Given the description of an element on the screen output the (x, y) to click on. 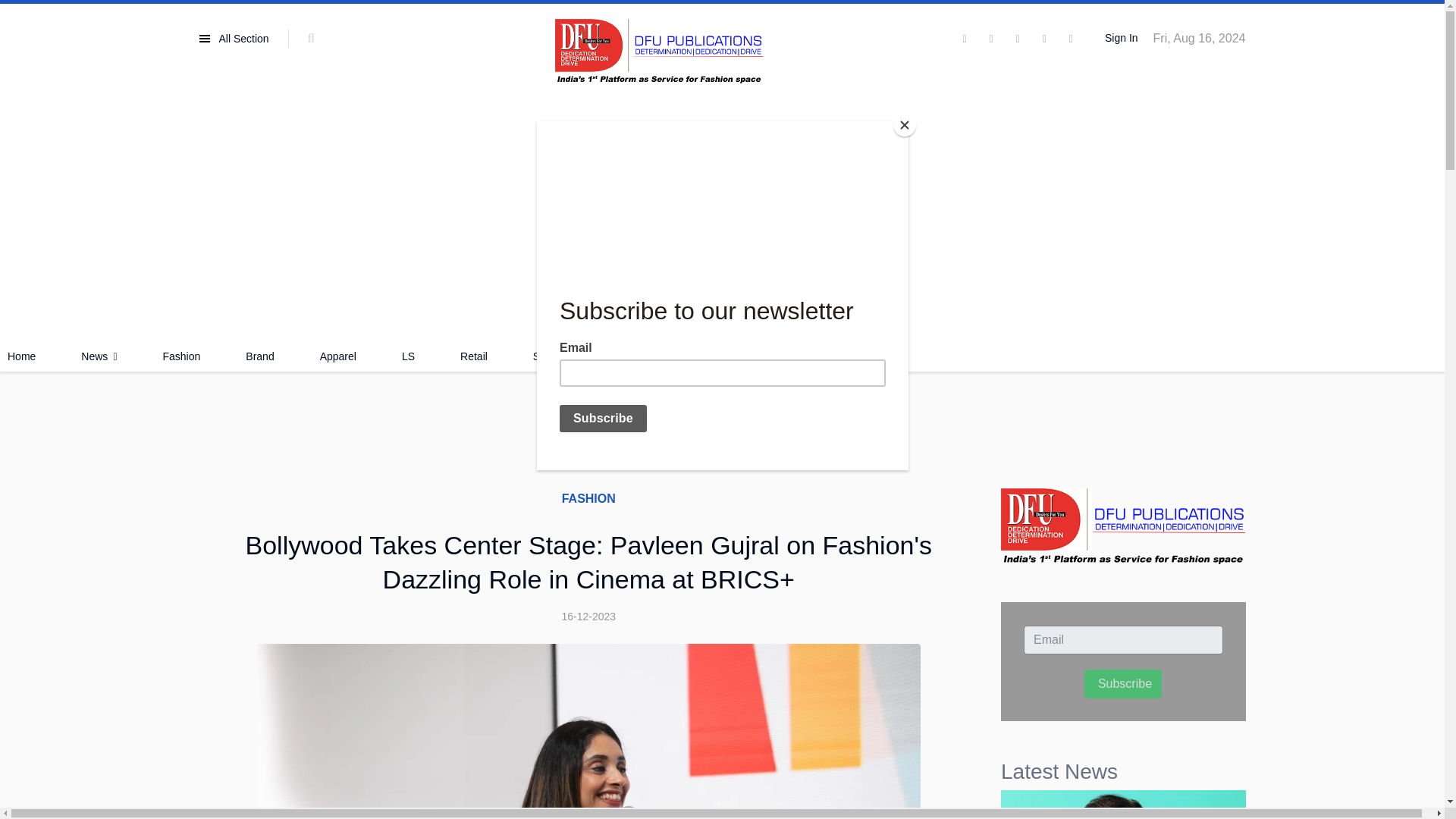
Sign In (1118, 38)
Published: 16 December 2023 (587, 616)
Category: Fashion (588, 498)
